Given the description of an element on the screen output the (x, y) to click on. 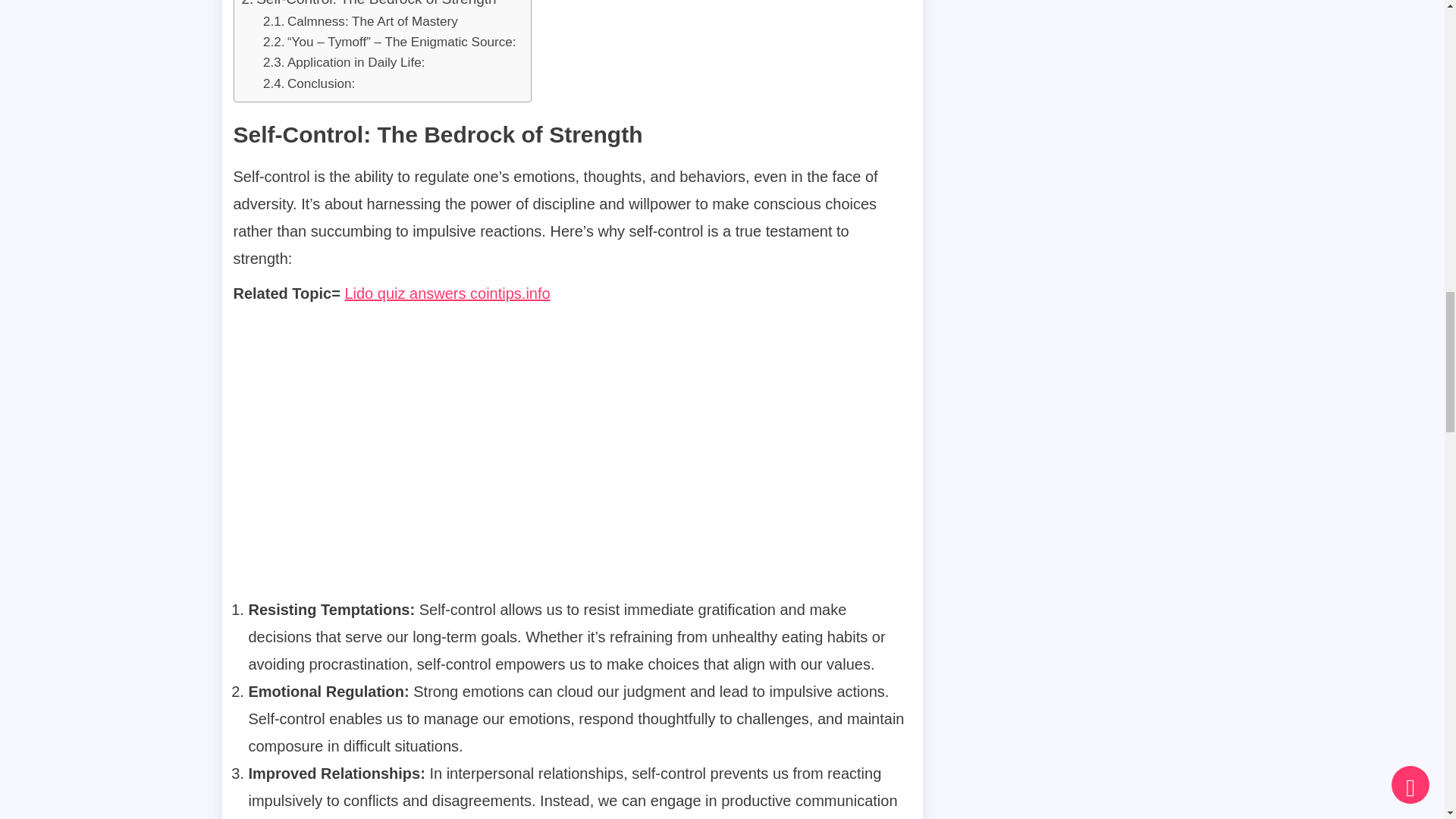
Conclusion: (309, 83)
Calmness: The Art of Mastery (360, 21)
Self-Control: The Bedrock of Strength (368, 5)
Conclusion: (309, 83)
Application in Daily Life: (344, 62)
Self-Control: The Bedrock of Strength (368, 5)
Calmness: The Art of Mastery (360, 21)
Application in Daily Life: (344, 62)
Lido quiz answers cointips.info (446, 293)
